Given the description of an element on the screen output the (x, y) to click on. 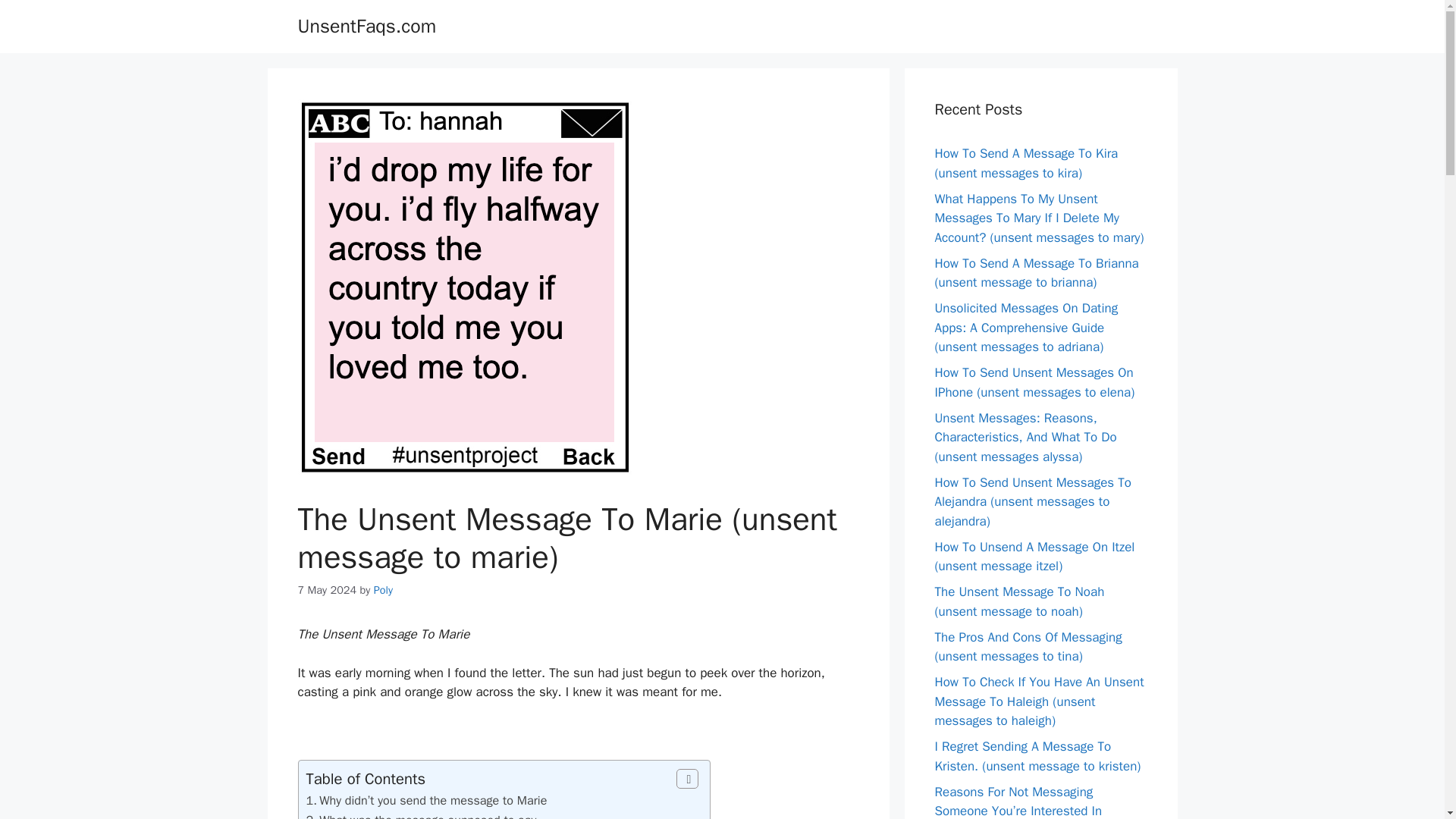
View all posts by Poly (383, 590)
What was the message supposed to say (426, 815)
Poly (383, 590)
UnsentFaqs.com (366, 25)
What was the message supposed to say (426, 815)
